Given the description of an element on the screen output the (x, y) to click on. 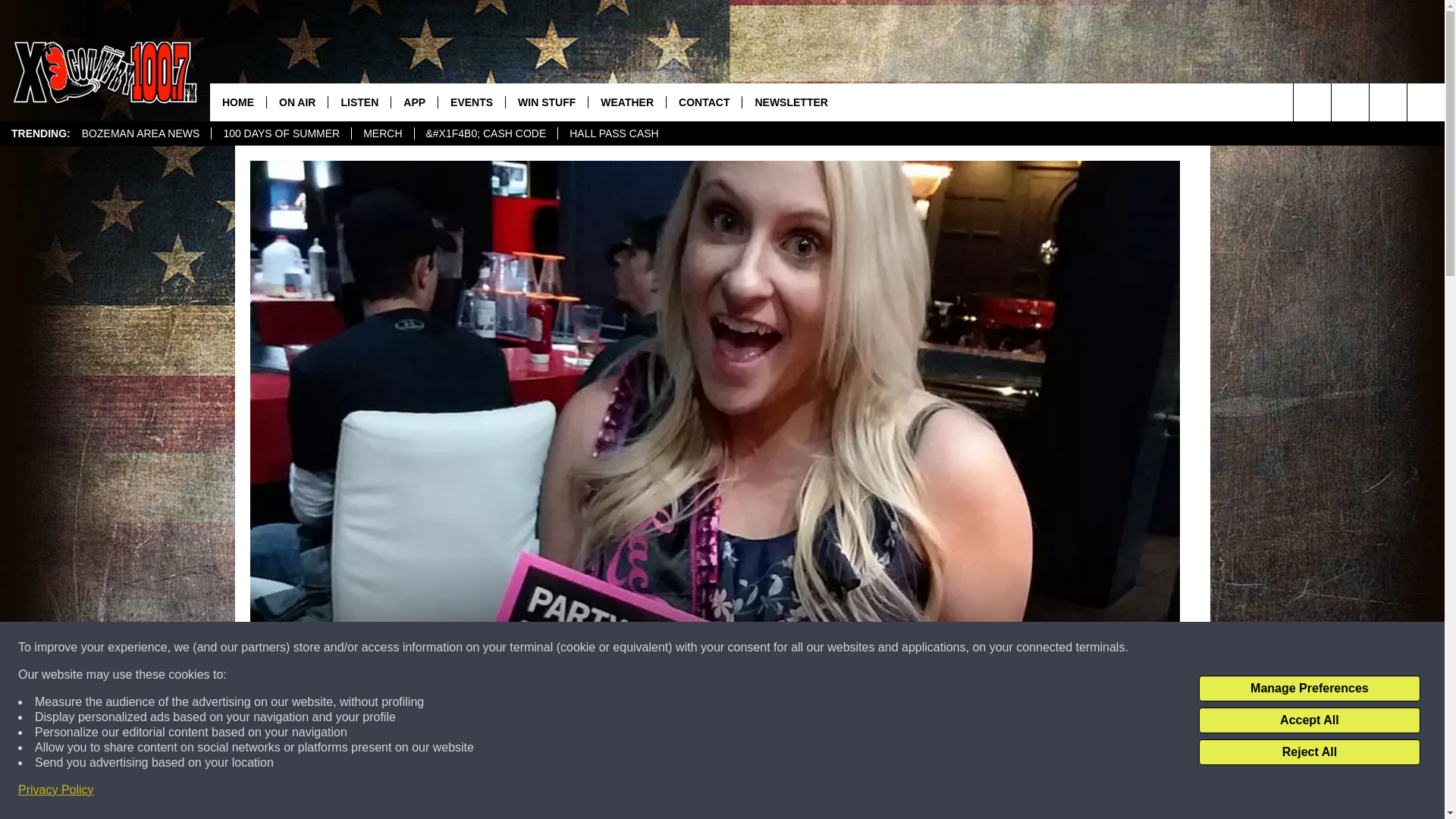
HALL PASS CASH (613, 133)
Reject All (1309, 751)
HOME (237, 102)
ON AIR (296, 102)
100 DAYS OF SUMMER (280, 133)
WIN STUFF (546, 102)
Share on Twitter (912, 791)
MERCH (381, 133)
Privacy Policy (55, 789)
WEATHER (626, 102)
Share on Facebook (517, 791)
LISTEN (358, 102)
APP (414, 102)
Accept All (1309, 720)
EVENTS (471, 102)
